Given the description of an element on the screen output the (x, y) to click on. 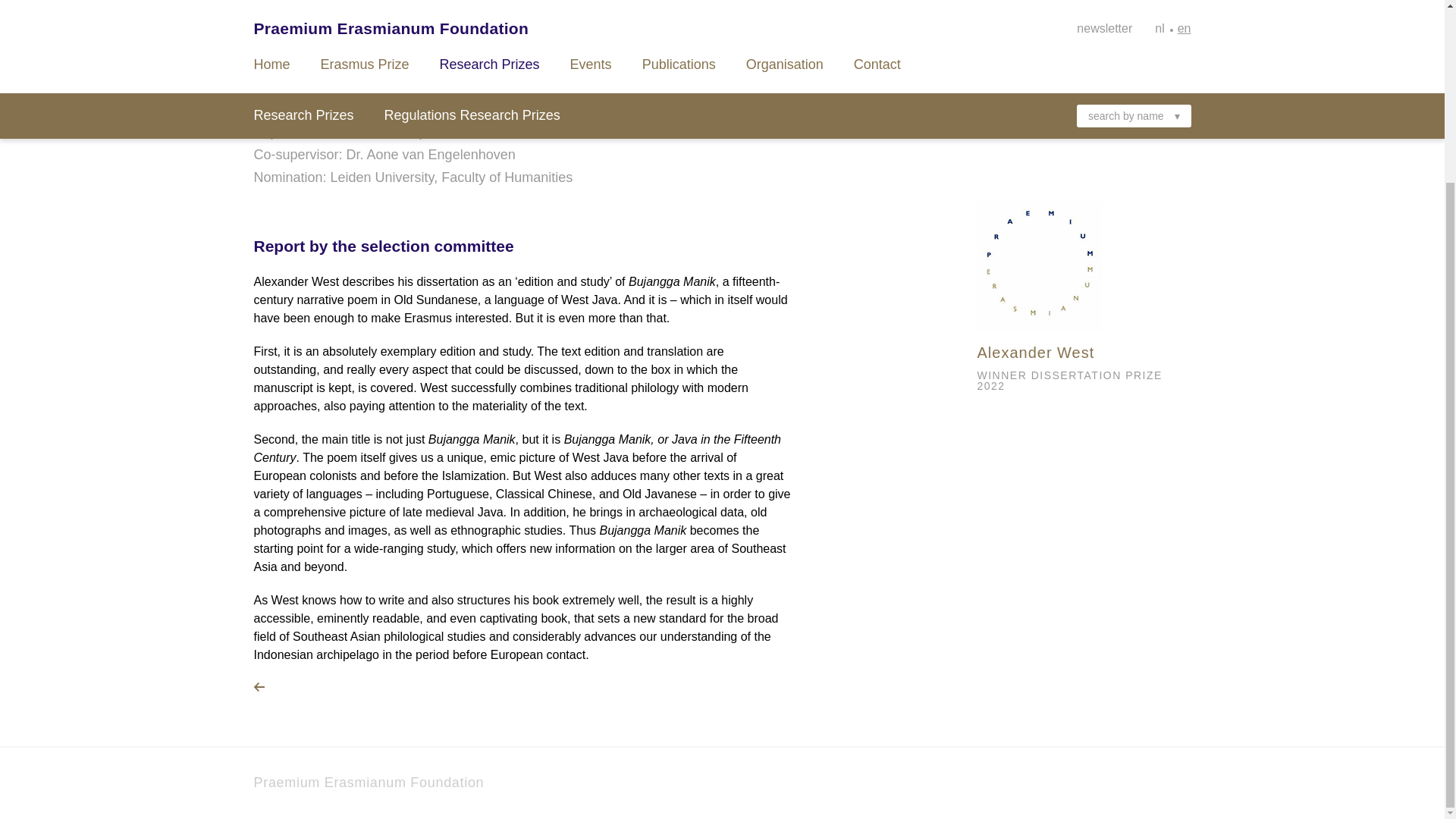
Praemium Erasmianum Foundation (368, 782)
